Given the description of an element on the screen output the (x, y) to click on. 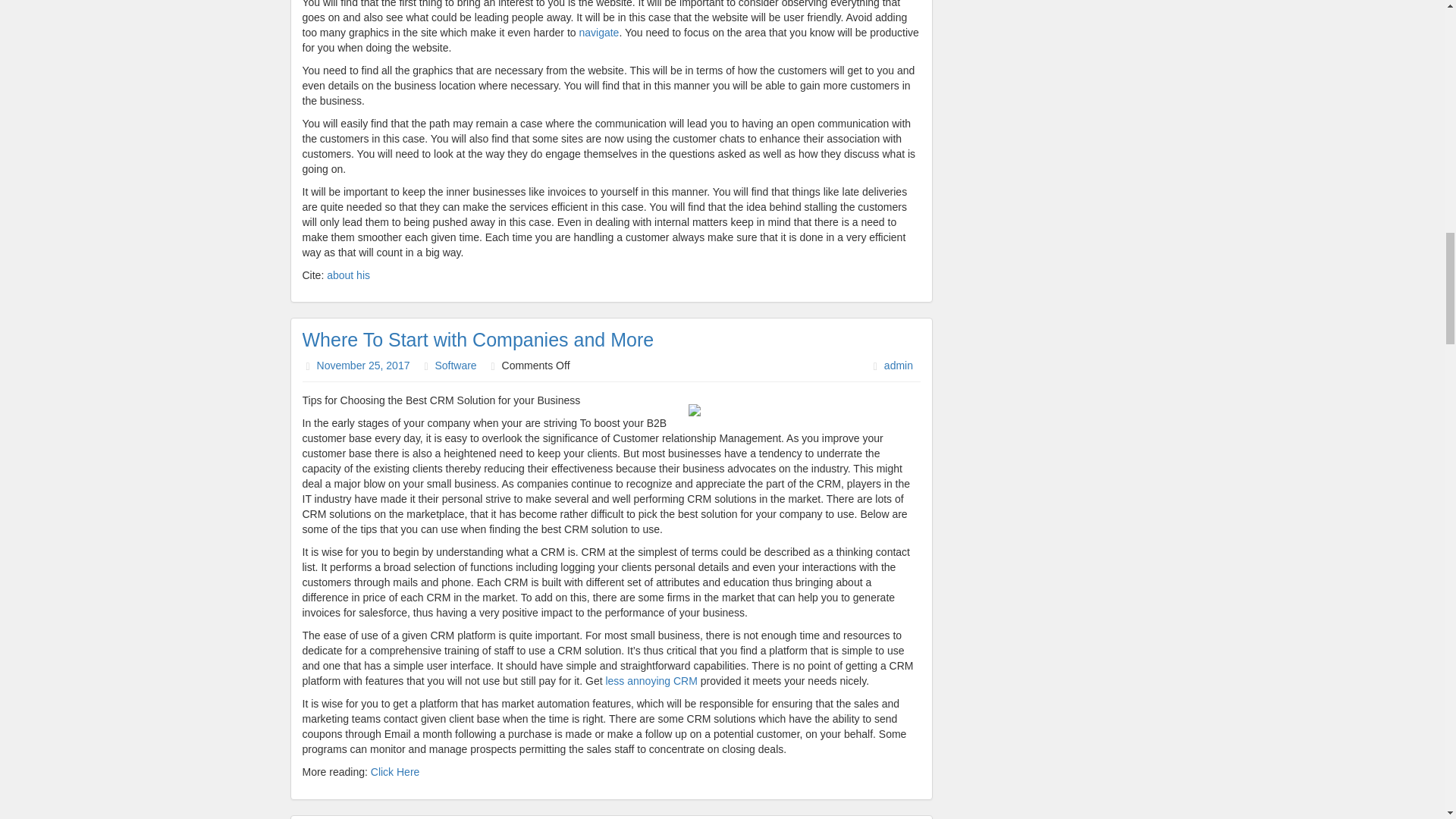
Click Here (395, 771)
Where To Start with Companies and More (477, 339)
November 25, 2017 (363, 365)
less annoying CRM (651, 680)
navigate (598, 32)
Posts by admin (897, 365)
about his (347, 274)
Software (454, 365)
admin (897, 365)
